Given the description of an element on the screen output the (x, y) to click on. 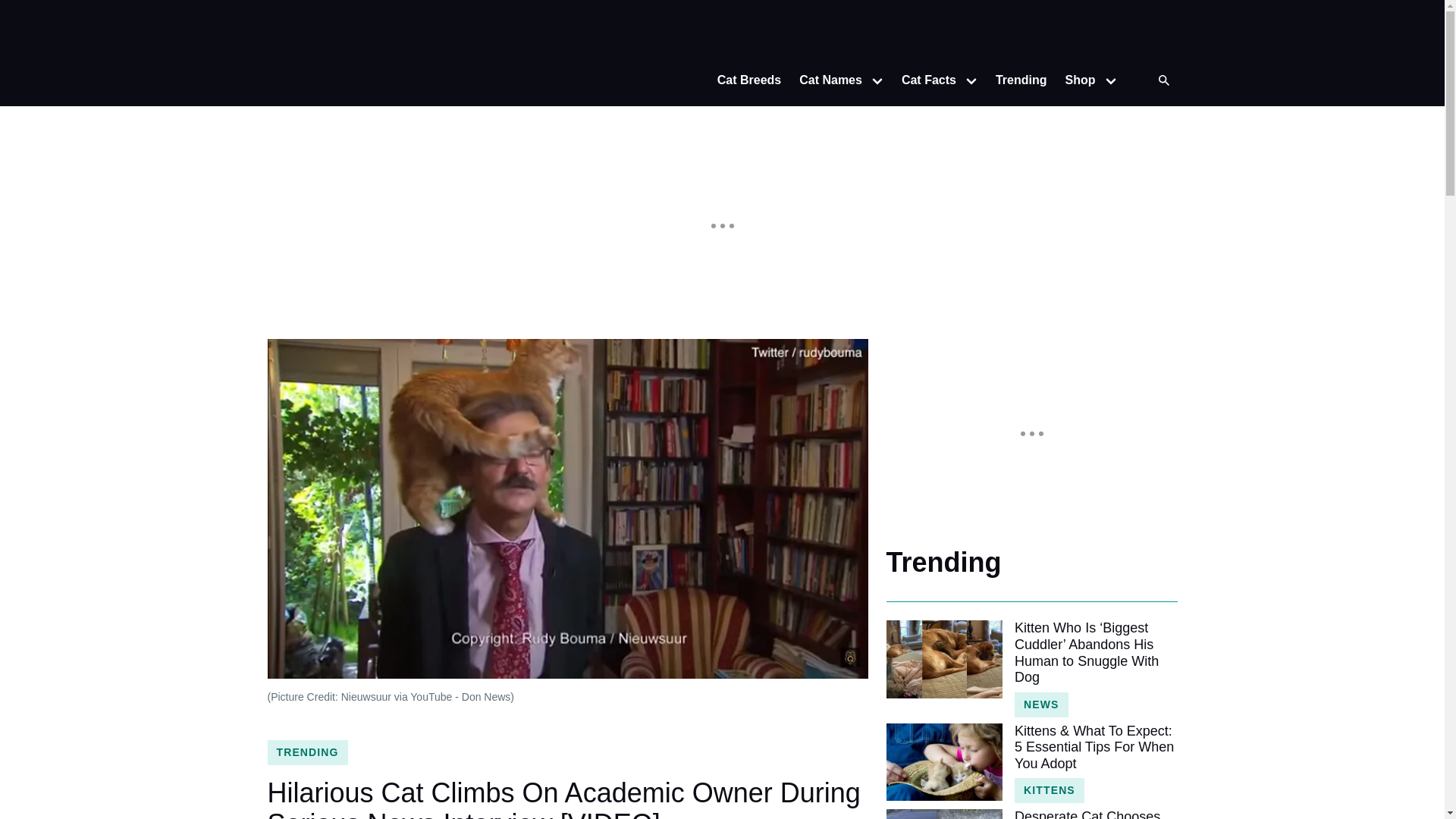
Open menu (876, 80)
TRENDING (306, 752)
Cat Facts (924, 80)
Open menu (971, 80)
Cat Breeds (748, 80)
Cat Names (825, 80)
Facebook (1130, 33)
Pinterest (1161, 33)
Open menu (1109, 80)
Trending (1022, 80)
